Given the description of an element on the screen output the (x, y) to click on. 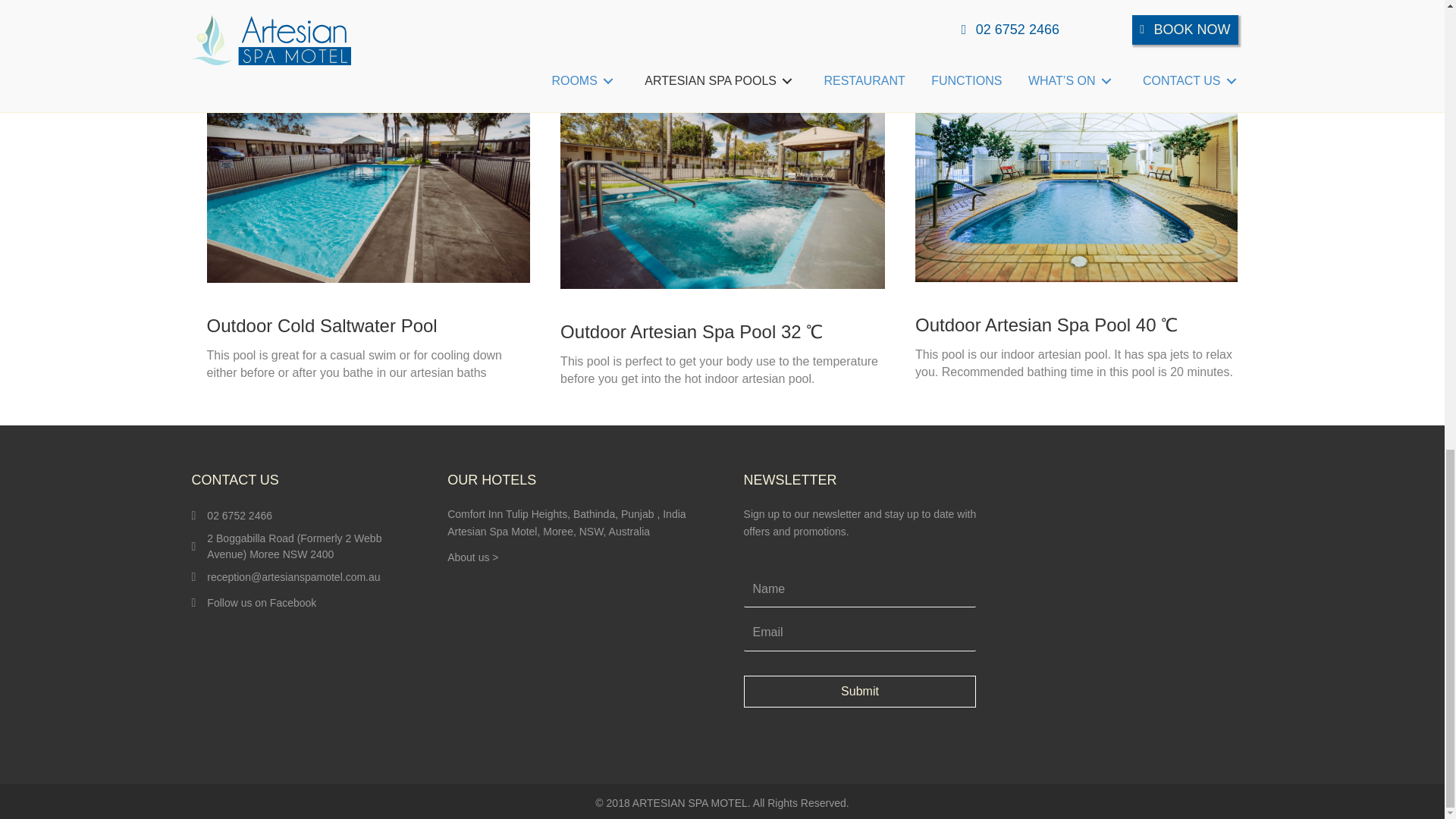
02 6752 2466 (239, 515)
Submit (860, 691)
Indoor Pool1 (1077, 174)
